Given the description of an element on the screen output the (x, y) to click on. 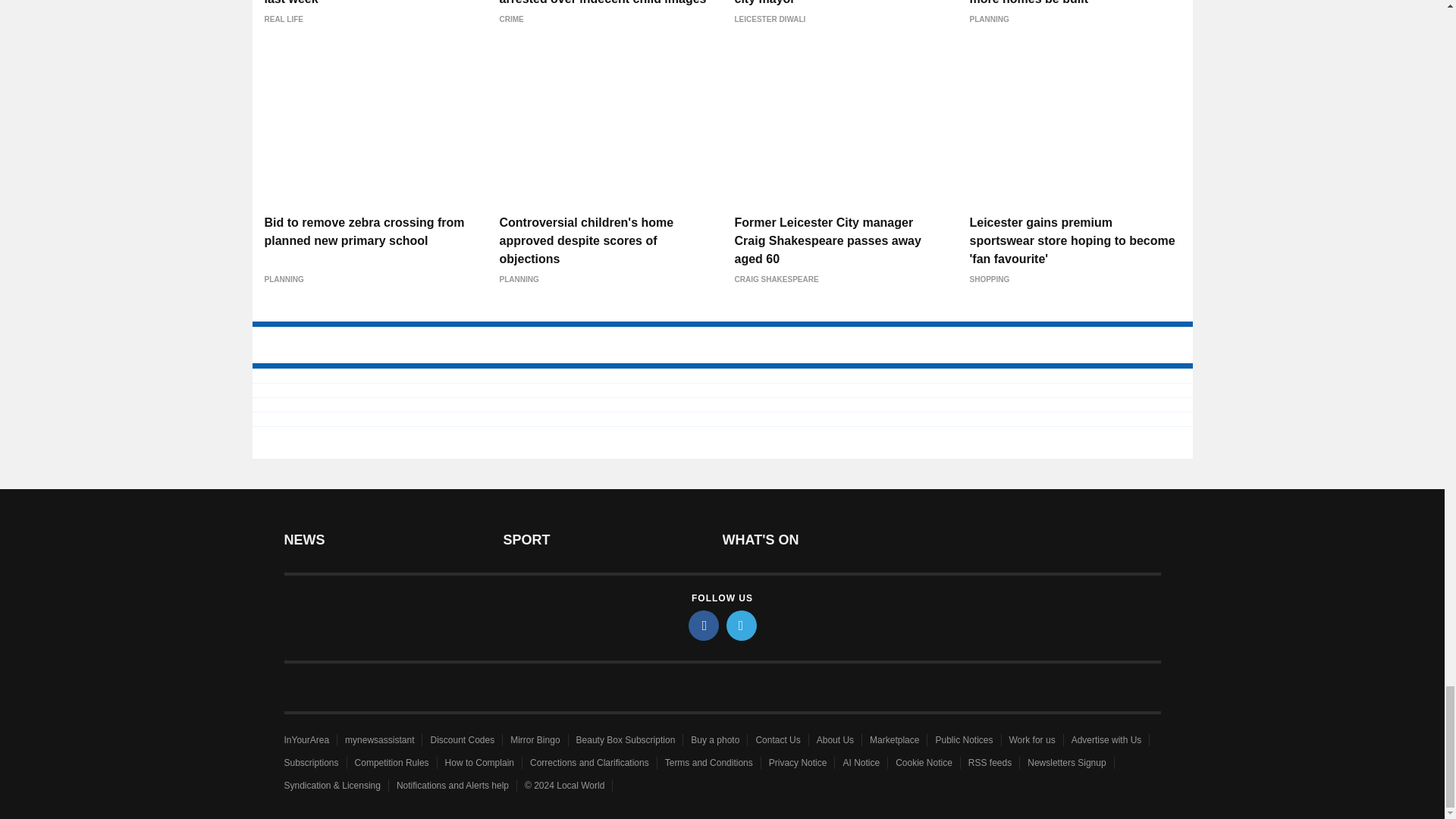
facebook (703, 625)
twitter (741, 625)
